Given the description of an element on the screen output the (x, y) to click on. 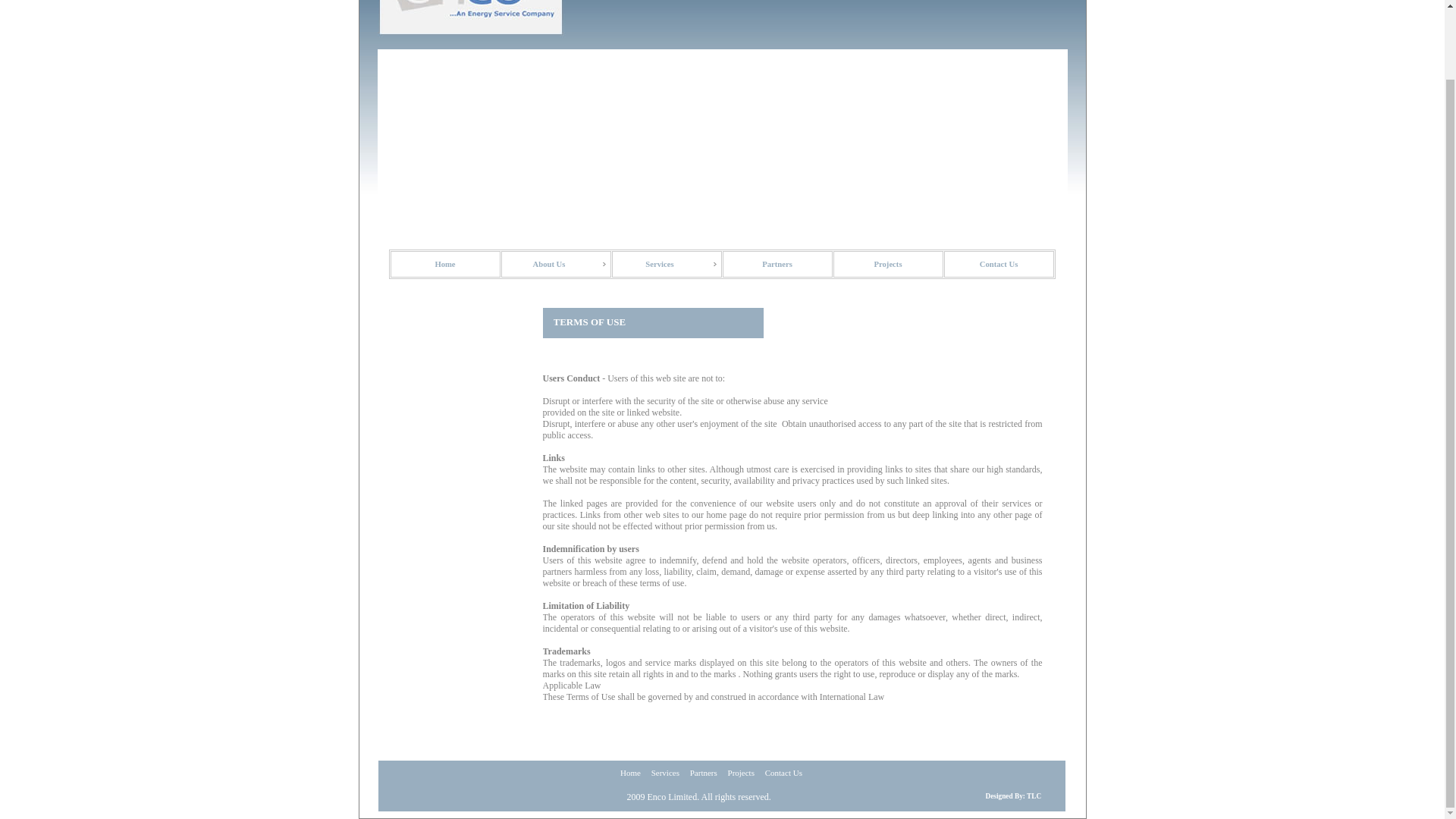
Contact Us (783, 772)
About Us (555, 263)
TLC (1033, 796)
Home (630, 772)
Services (665, 772)
Contact Us (997, 263)
Projects (742, 772)
Services (665, 263)
Projects (887, 263)
Home (444, 263)
